Given the description of an element on the screen output the (x, y) to click on. 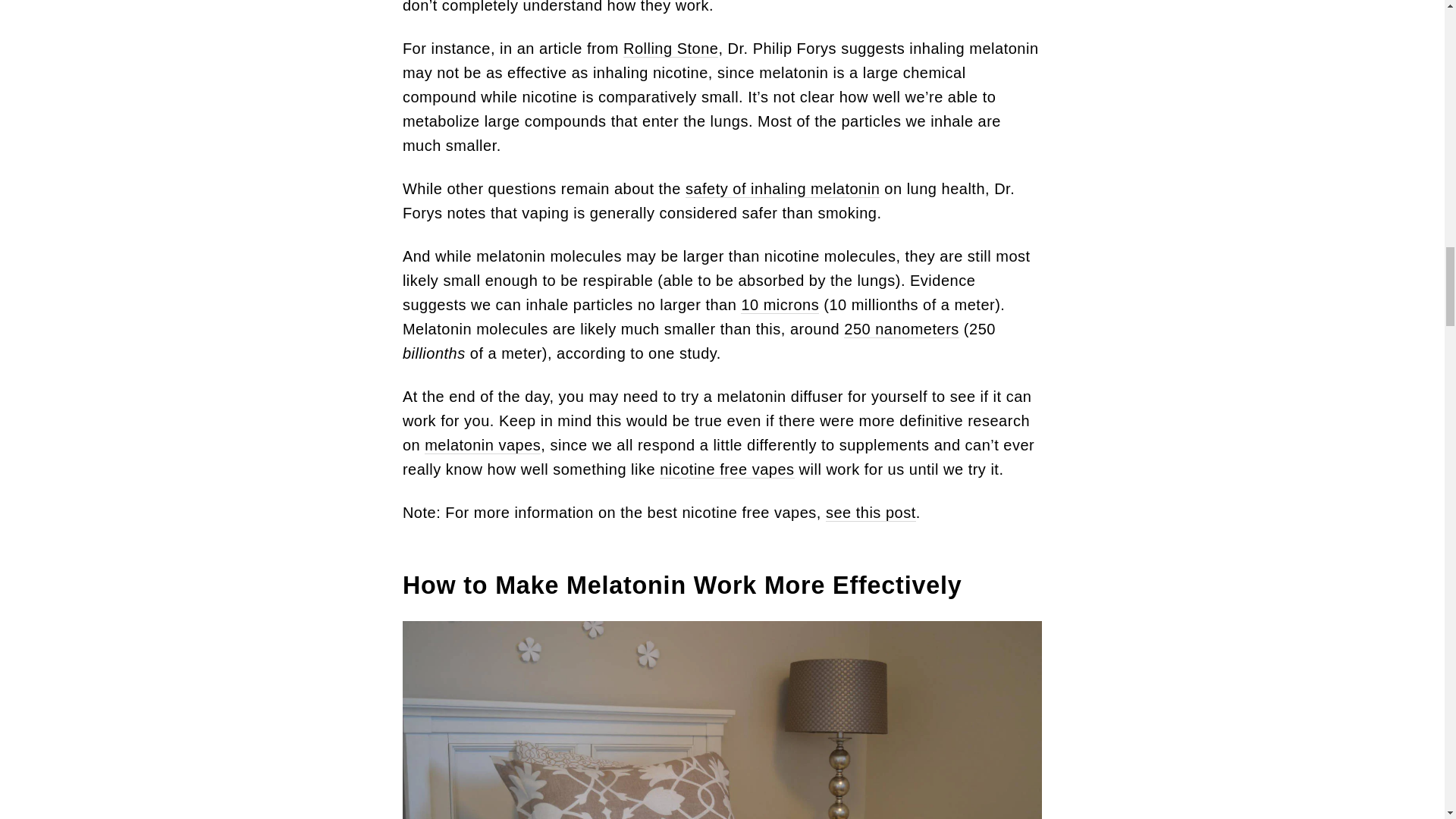
Can You Overdose on a Melatonin Vape? (782, 189)
Can Melatonin Vapes Safely Help People Sleep? (670, 48)
best nicotine free vapes (870, 512)
nicotine free vapes (726, 469)
